Given the description of an element on the screen output the (x, y) to click on. 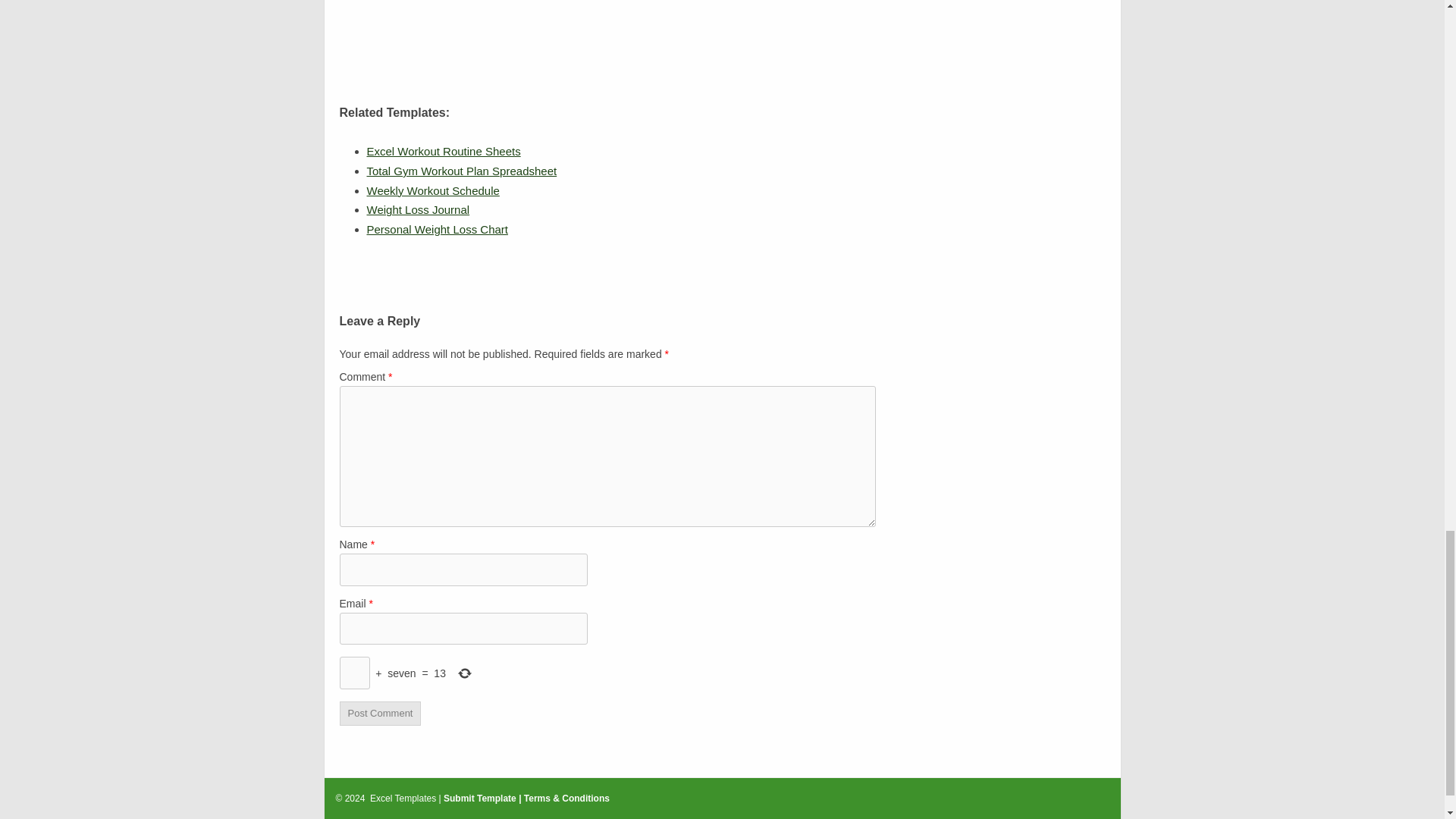
Post Comment (380, 713)
Weight Loss Journal (418, 209)
July 12, 2009 (418, 209)
Excel Workout Routine Sheets (443, 151)
June 10, 2016 (432, 190)
June 10, 2016 (437, 228)
May 1, 2013 (443, 151)
Personal Weight Loss Chart (437, 228)
Post Comment (380, 713)
Total Gym Workout Plan Spreadsheet (461, 170)
February 15, 2013 (461, 170)
Weekly Workout Schedule (432, 190)
